Given the description of an element on the screen output the (x, y) to click on. 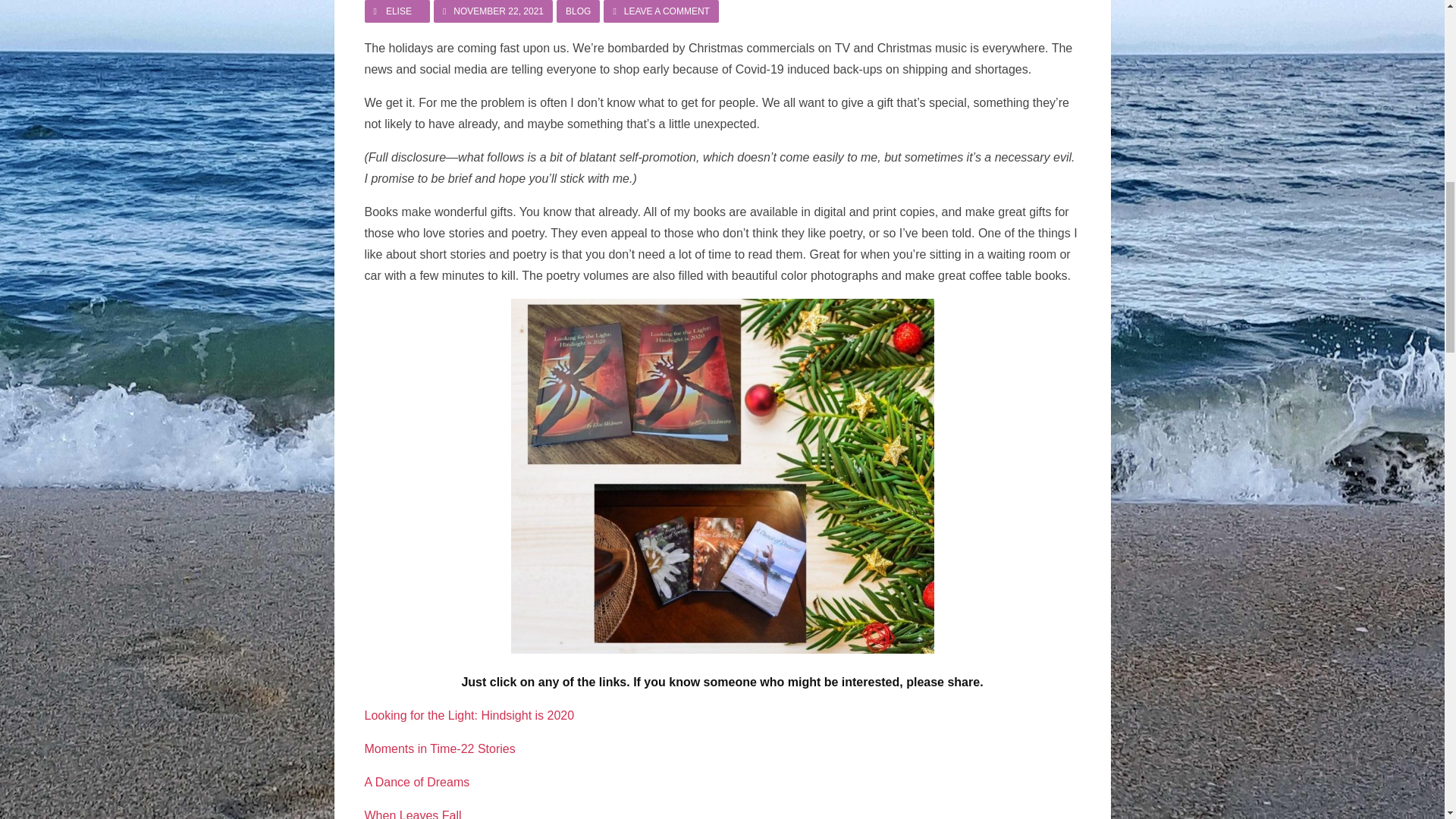
NOVEMBER 22, 2021 (493, 11)
Looking for the Light: Hindsight is 2020 (468, 714)
BLOG (577, 11)
ELISE (661, 11)
Moments in Time-22 Stories (398, 11)
When Leaves Fall (439, 748)
A Dance of Dreams (412, 813)
